Given the description of an element on the screen output the (x, y) to click on. 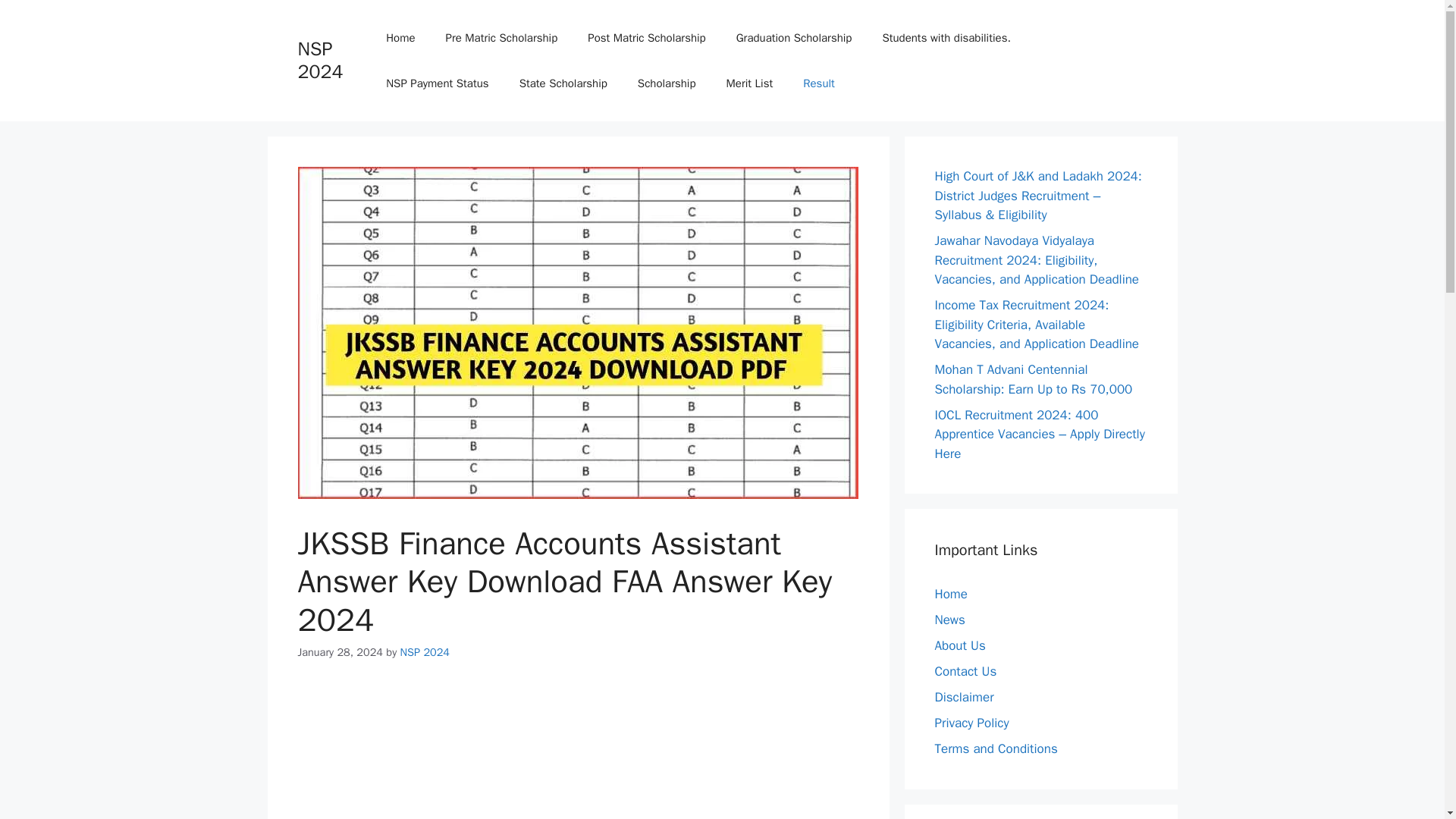
Scholarship (667, 83)
Disclaimer (963, 697)
NSP Payment Status (437, 83)
Privacy Policy (971, 722)
Post Matric Scholarship (646, 37)
Home (950, 593)
Result (818, 83)
Mohan T Advani Centennial Scholarship: Earn Up to Rs 70,000 (1033, 379)
View all posts by NSP 2024 (424, 652)
